Given the description of an element on the screen output the (x, y) to click on. 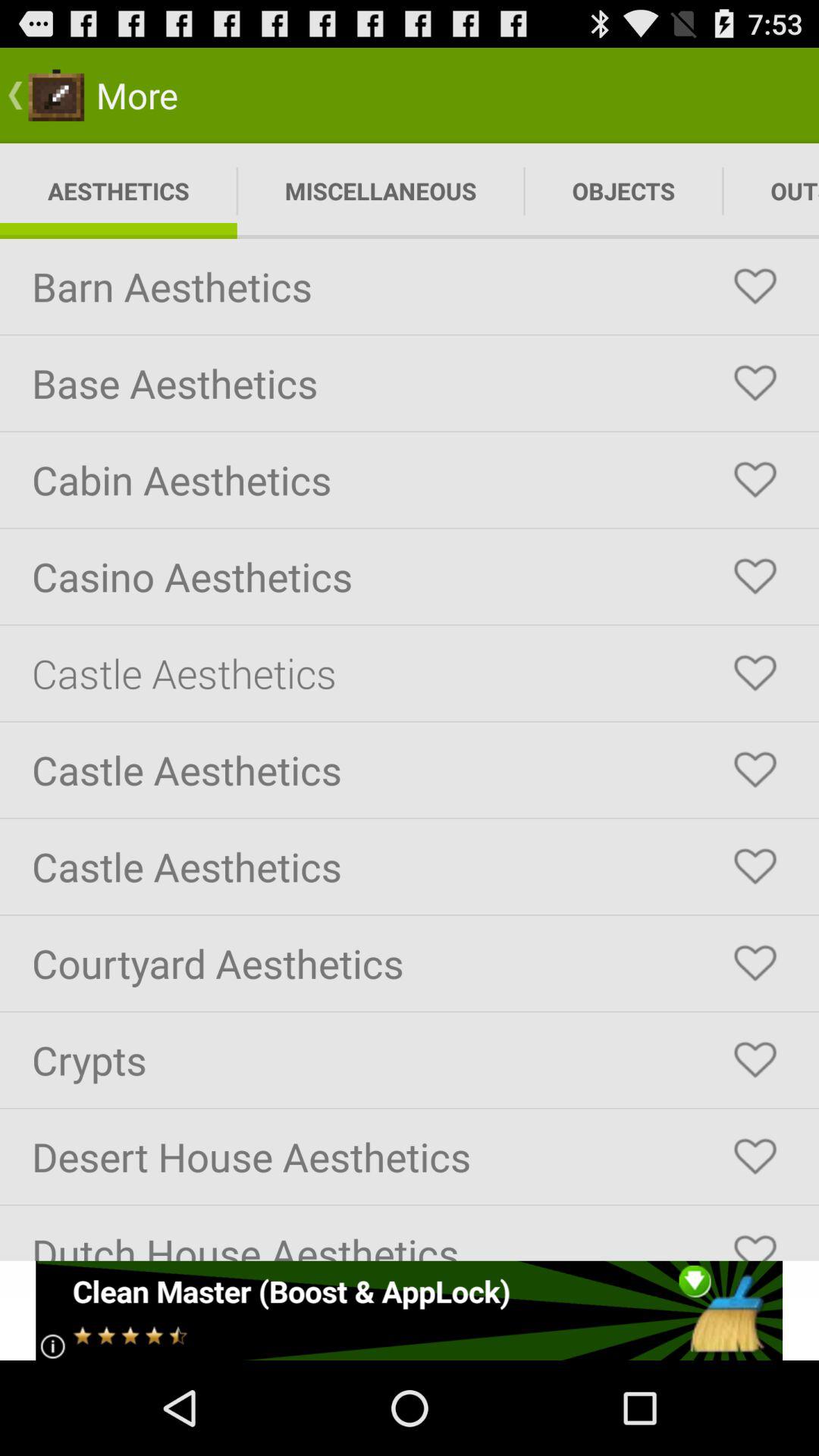
select particular option and process it (755, 1060)
